Given the description of an element on the screen output the (x, y) to click on. 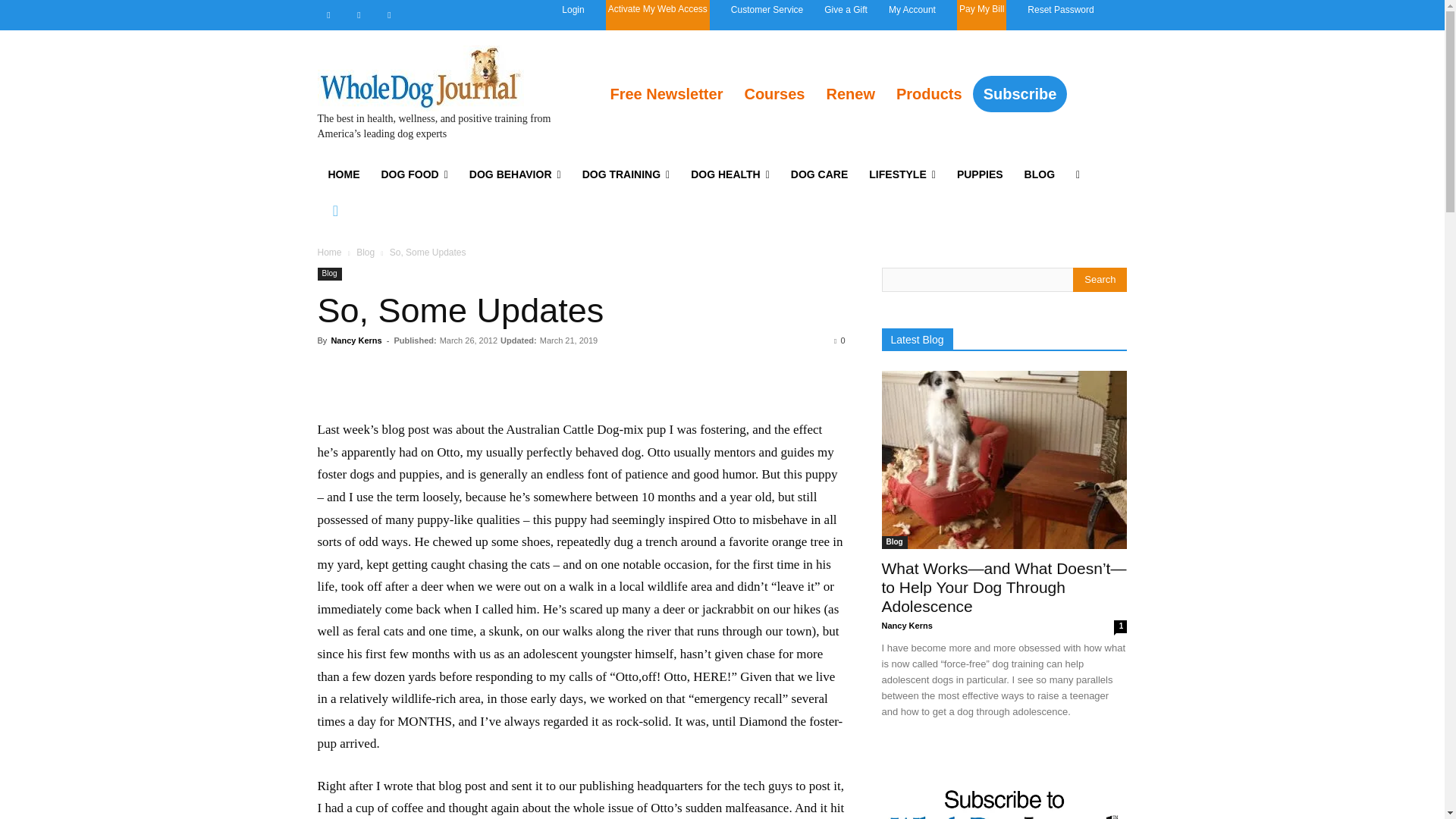
Instagram (358, 15)
Give a Gift (845, 9)
Activate My Web Access (657, 15)
Search (1099, 279)
Facebook (328, 15)
Twitter (388, 15)
Customer Service (766, 9)
Login (572, 9)
